Given the description of an element on the screen output the (x, y) to click on. 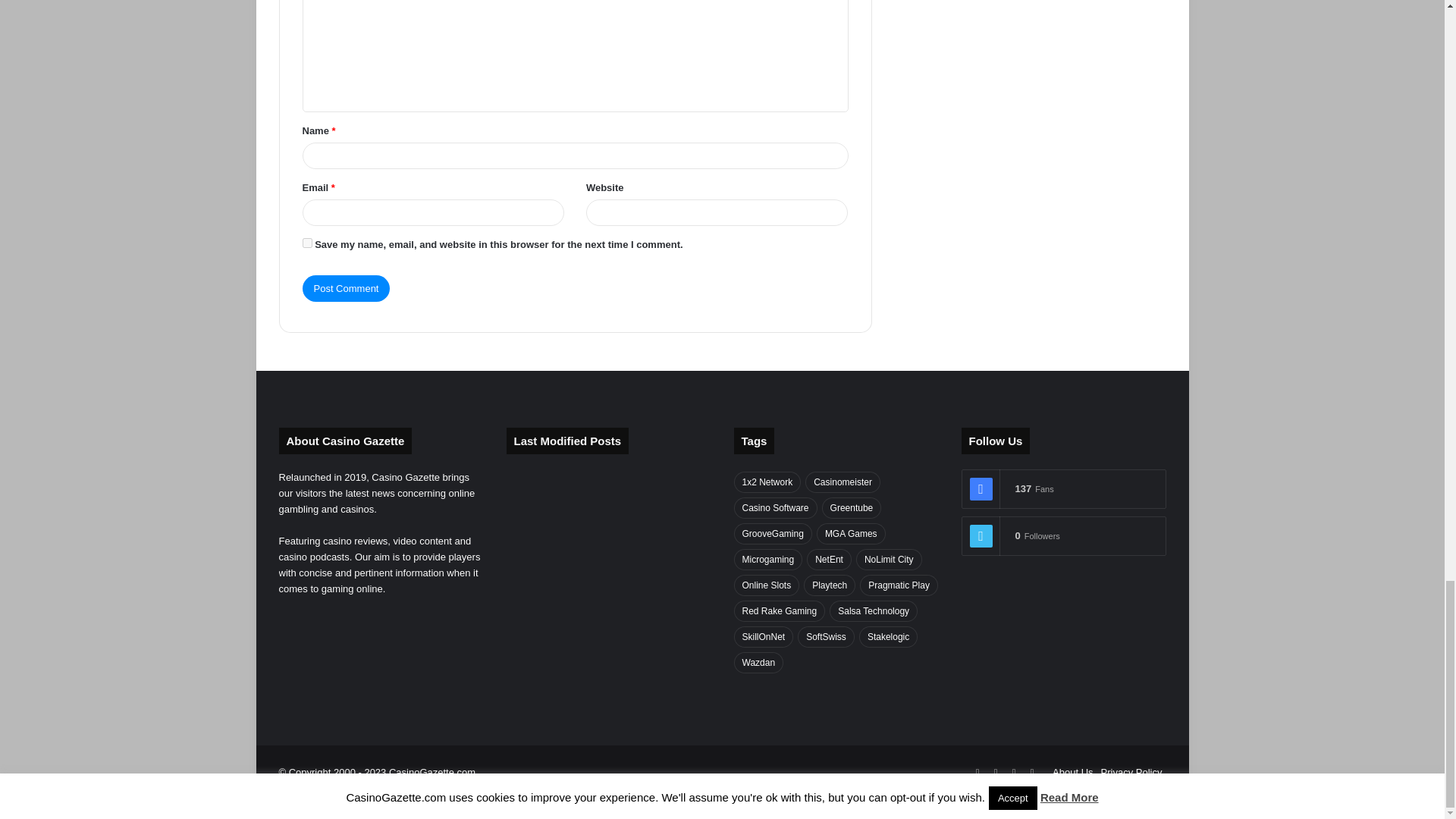
yes (306, 243)
Post Comment (345, 288)
